Given the description of an element on the screen output the (x, y) to click on. 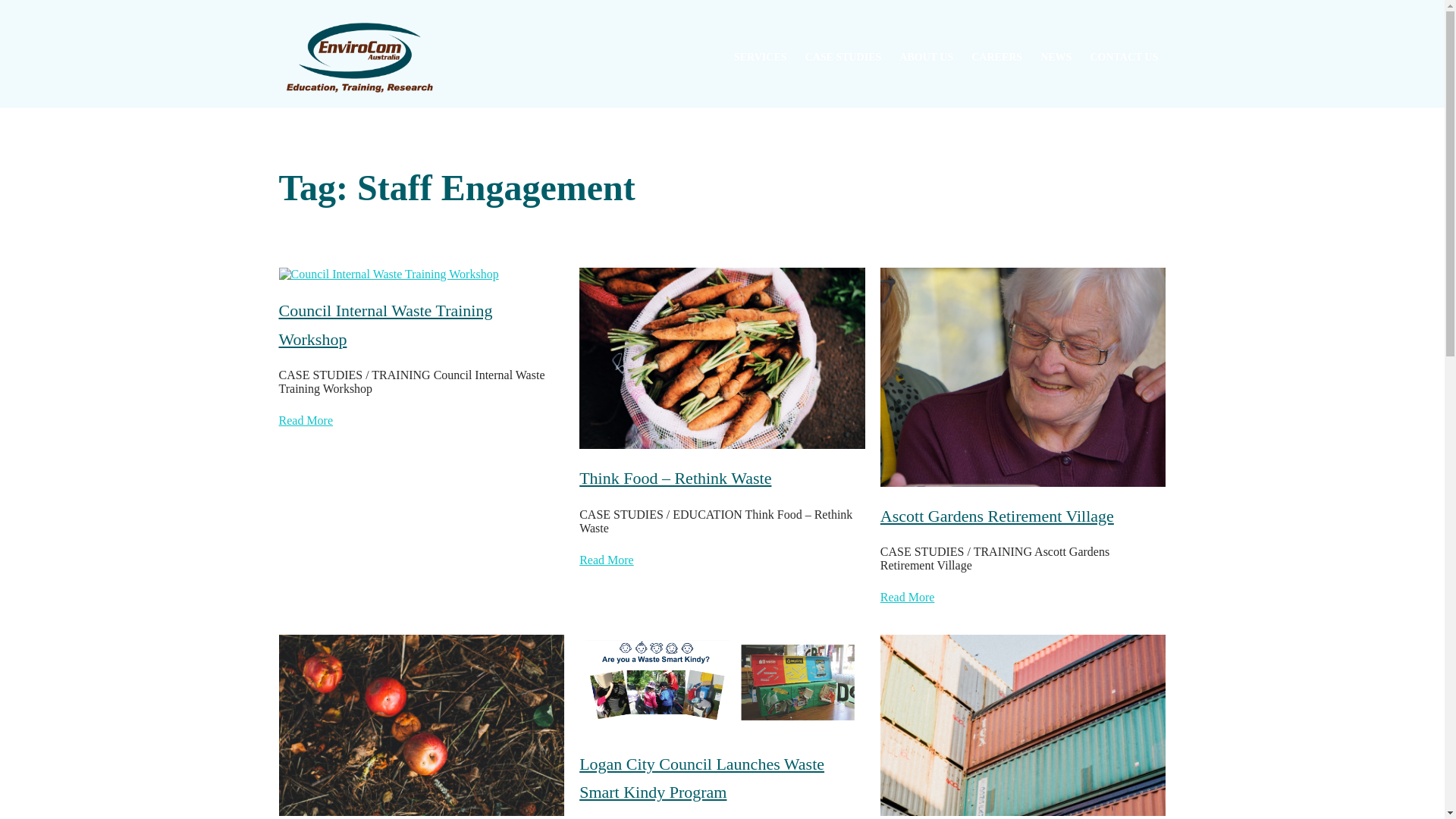
CONTACT US Element type: text (1123, 57)
CASE STUDIES Element type: text (843, 57)
Ascott Gardens Retirement Village Element type: text (996, 516)
CAREERS Element type: text (996, 57)
Council Internal Waste Training Workshop Element type: text (421, 324)
ABOUT US Element type: text (926, 57)
SERVICES Element type: text (760, 57)
NEWS Element type: text (1055, 57)
Read More Element type: text (306, 420)
Read More Element type: text (907, 597)
Read More Element type: text (606, 560)
Logan City Council Launches Waste Smart Kindy Program Element type: text (722, 777)
